Given the description of an element on the screen output the (x, y) to click on. 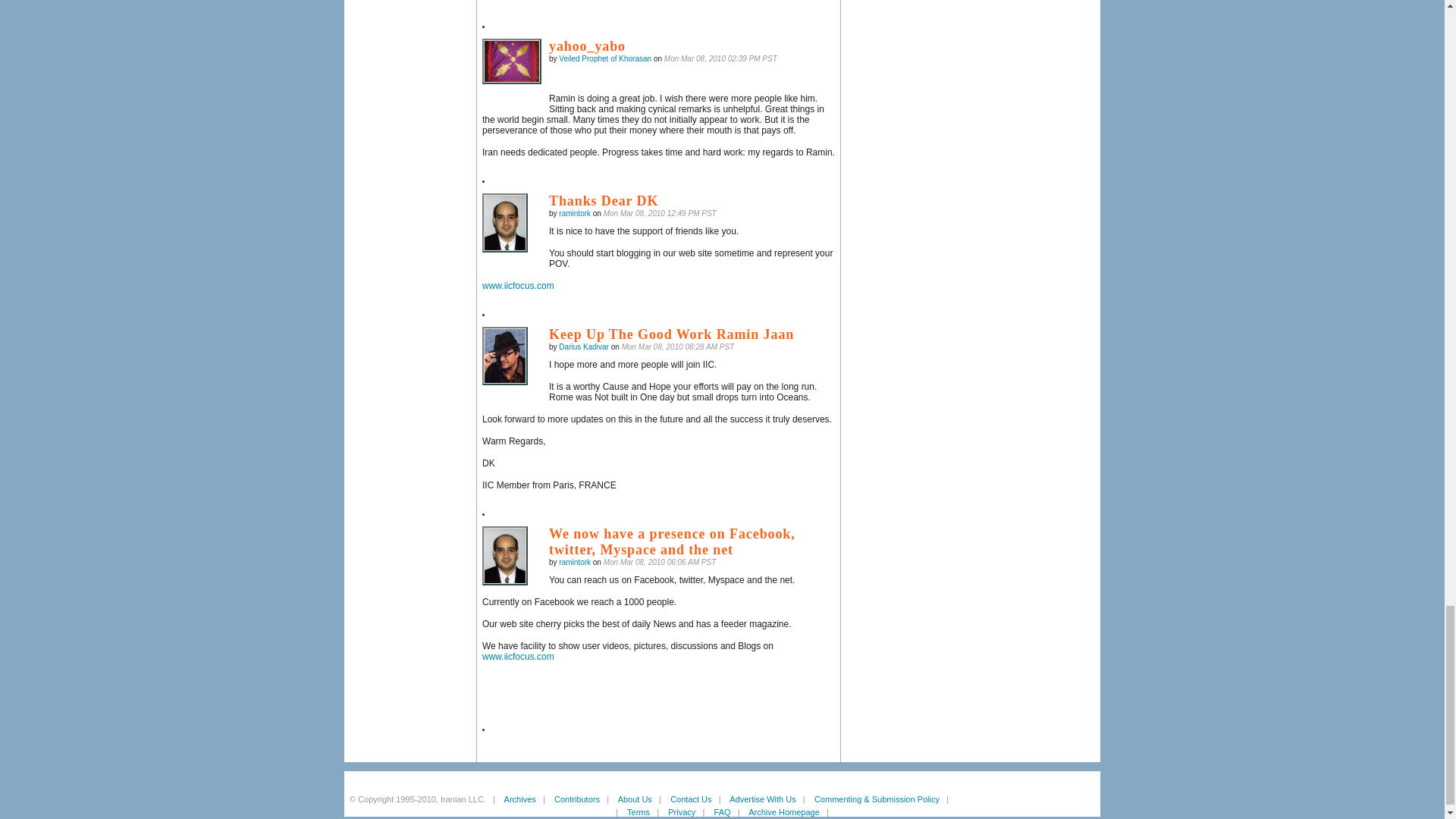
View user profile. (604, 58)
Veiled Prophet of Khorasan (511, 61)
